Given the description of an element on the screen output the (x, y) to click on. 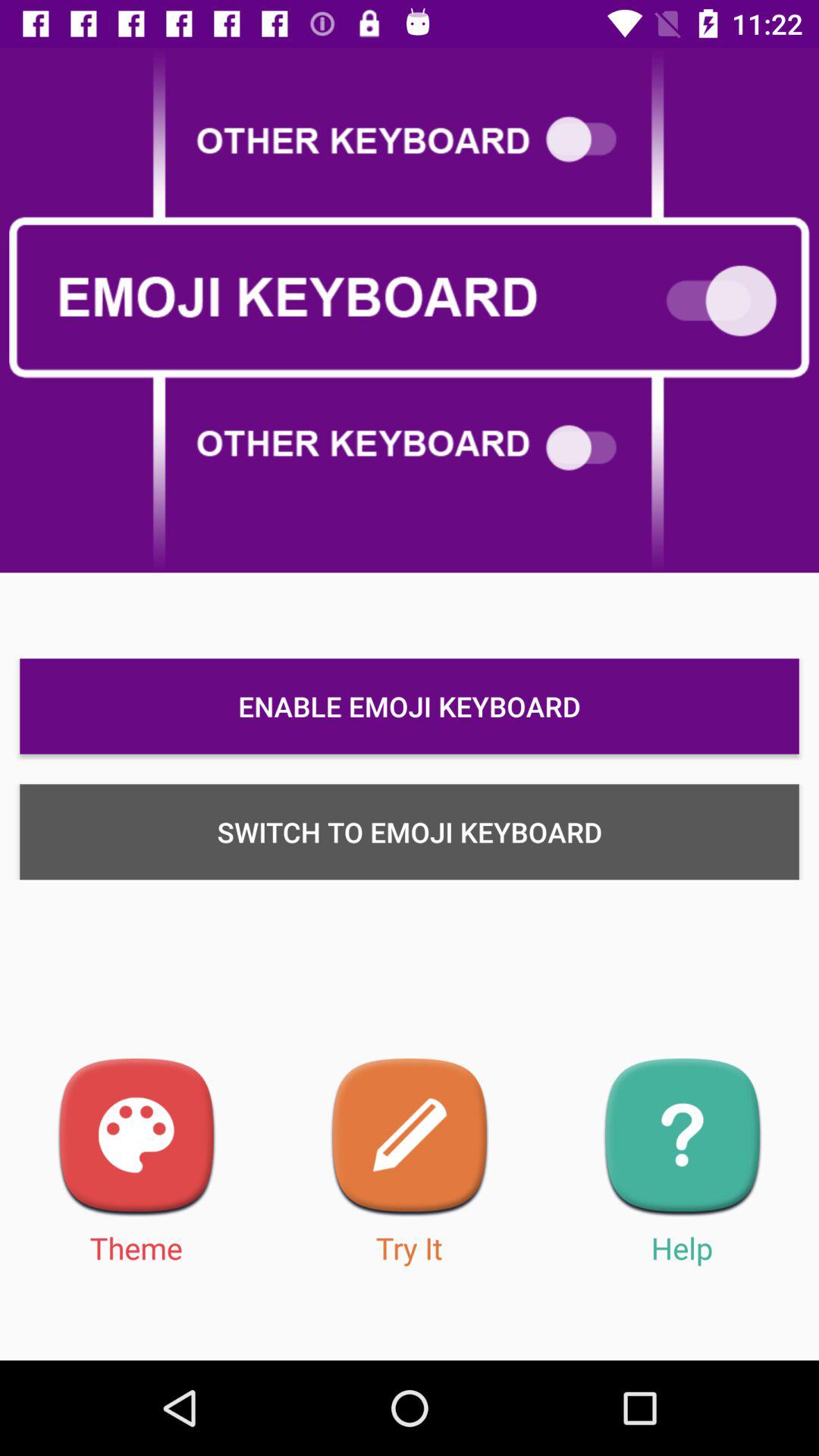
theme (136, 1137)
